Given the description of an element on the screen output the (x, y) to click on. 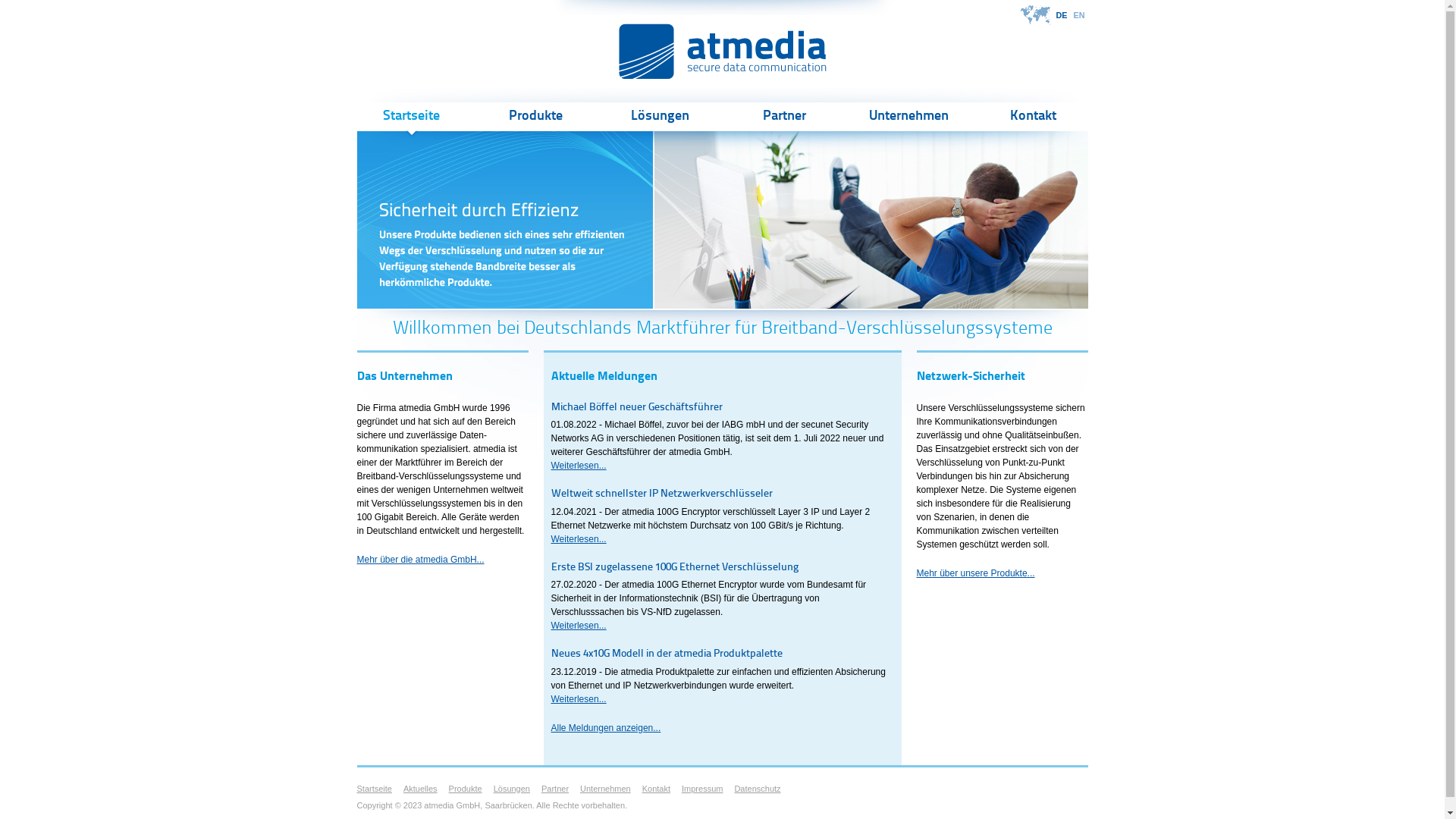
atmedia Element type: text (722, 50)
Startseite Element type: text (373, 788)
Datenschutz Element type: text (757, 788)
Unternehmen Element type: text (908, 116)
Kontakt Element type: text (1032, 116)
Produkte Element type: text (465, 788)
Produkte Element type: text (534, 116)
Weiterlesen... Element type: text (577, 465)
DE Element type: text (1060, 14)
Impressum Element type: text (701, 788)
Neues 4x10G Modell in der atmedia Produktpalette Element type: text (665, 653)
Weiterlesen... Element type: text (577, 625)
Alle Meldungen anzeigen... Element type: text (605, 727)
Kontakt Element type: text (656, 788)
EN Element type: text (1079, 14)
Weiterlesen... Element type: text (577, 538)
Unternehmen Element type: text (605, 788)
Aktuelles Element type: text (420, 788)
Weiterlesen... Element type: text (577, 698)
Partner Element type: text (783, 116)
Partner Element type: text (554, 788)
Startseite Element type: text (410, 116)
